Given the description of an element on the screen output the (x, y) to click on. 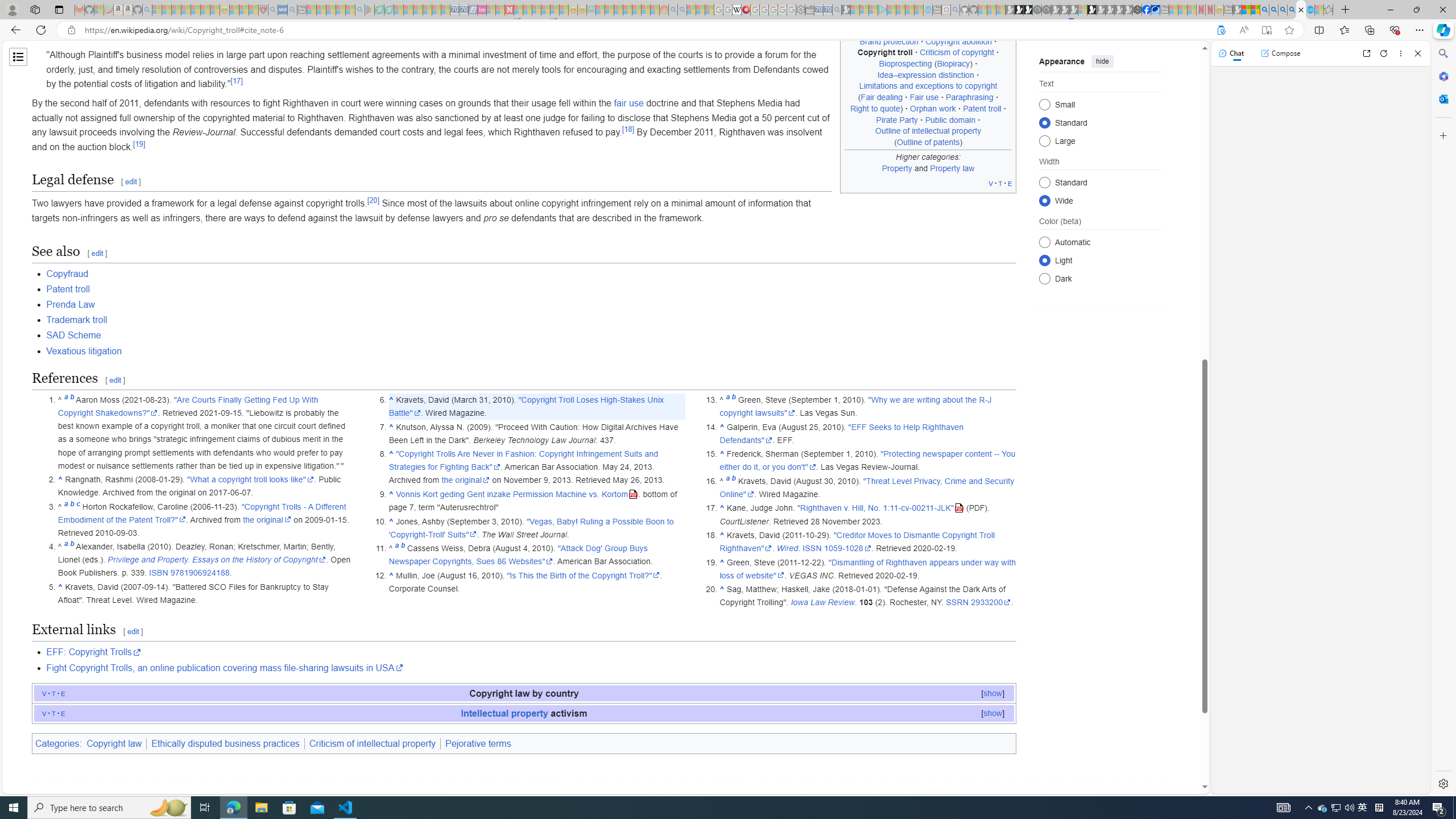
Jump up (722, 589)
"EFF Seeks to Help Righthaven Defendants" (841, 432)
Chat (1231, 52)
Privilege and Property. Essays on the History of Copyright (216, 560)
(Biopiracy) (952, 63)
Tab actions menu (58, 9)
Trusted Community Engagement and Contributions | Guidelines (518, 9)
"Threat Level Privacy, Crime and Security Online" (866, 486)
Search (1442, 53)
Orphan work (933, 108)
Ethically disputed business practices (224, 743)
